Given the description of an element on the screen output the (x, y) to click on. 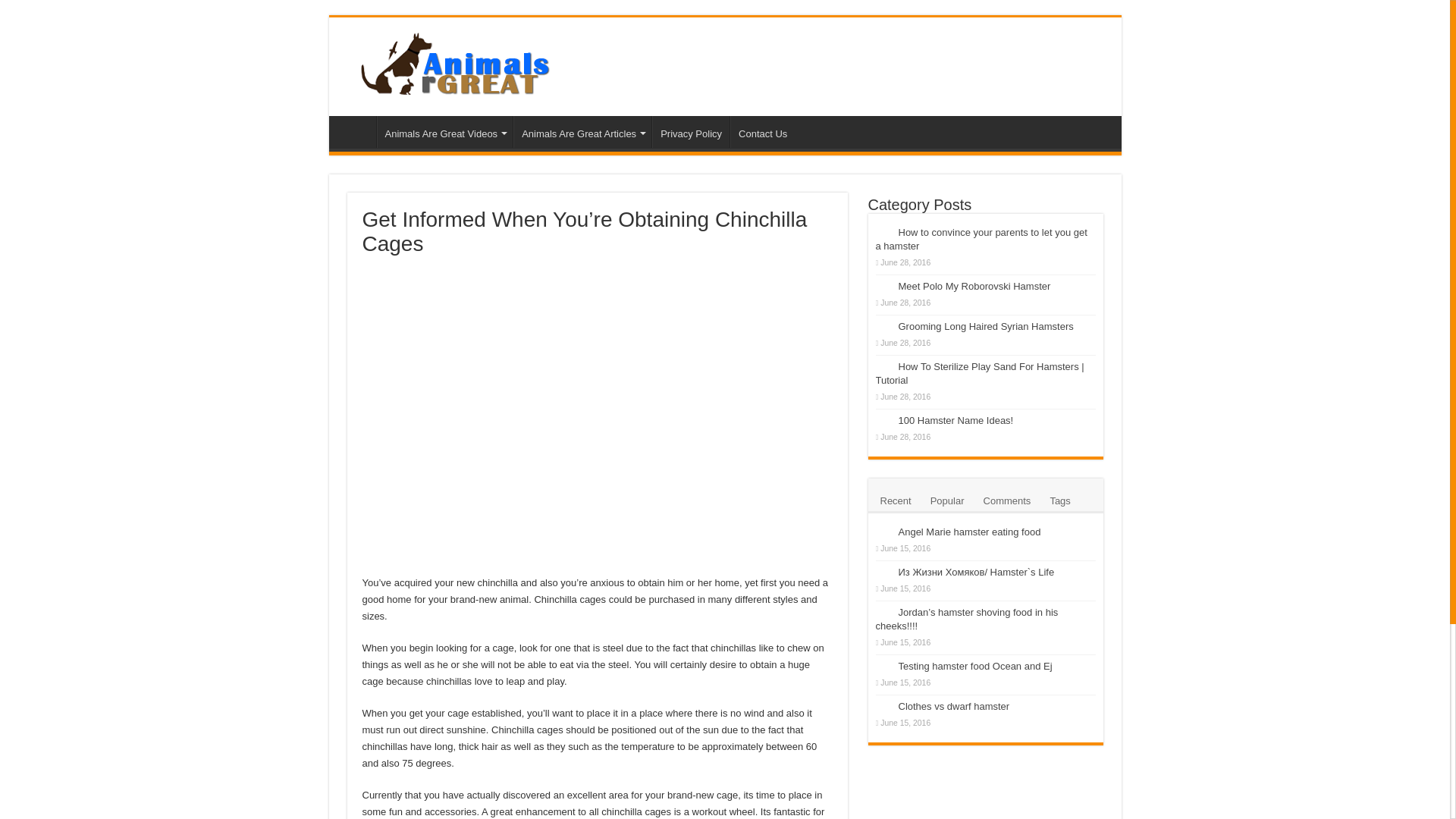
Animals R Great (472, 63)
How to convince your parents to let you get a hamster (980, 238)
Contact Us (762, 132)
Animals Are Great Articles (581, 132)
Animals Are Great Videos (443, 132)
Home (355, 132)
Meet Polo My Roborovski Hamster (973, 285)
Privacy Policy (690, 132)
